Given the description of an element on the screen output the (x, y) to click on. 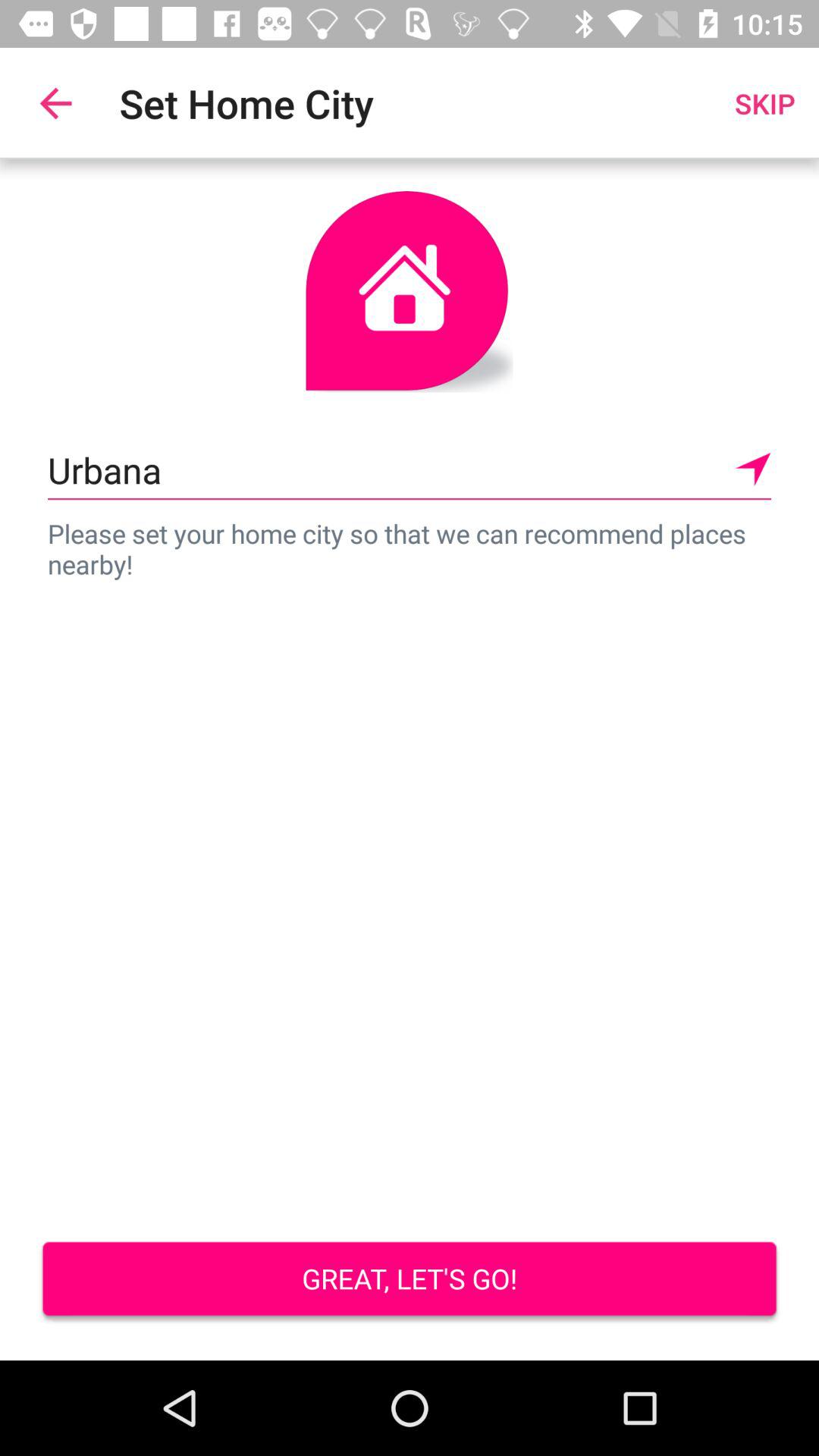
tap item above urbana icon (55, 103)
